Given the description of an element on the screen output the (x, y) to click on. 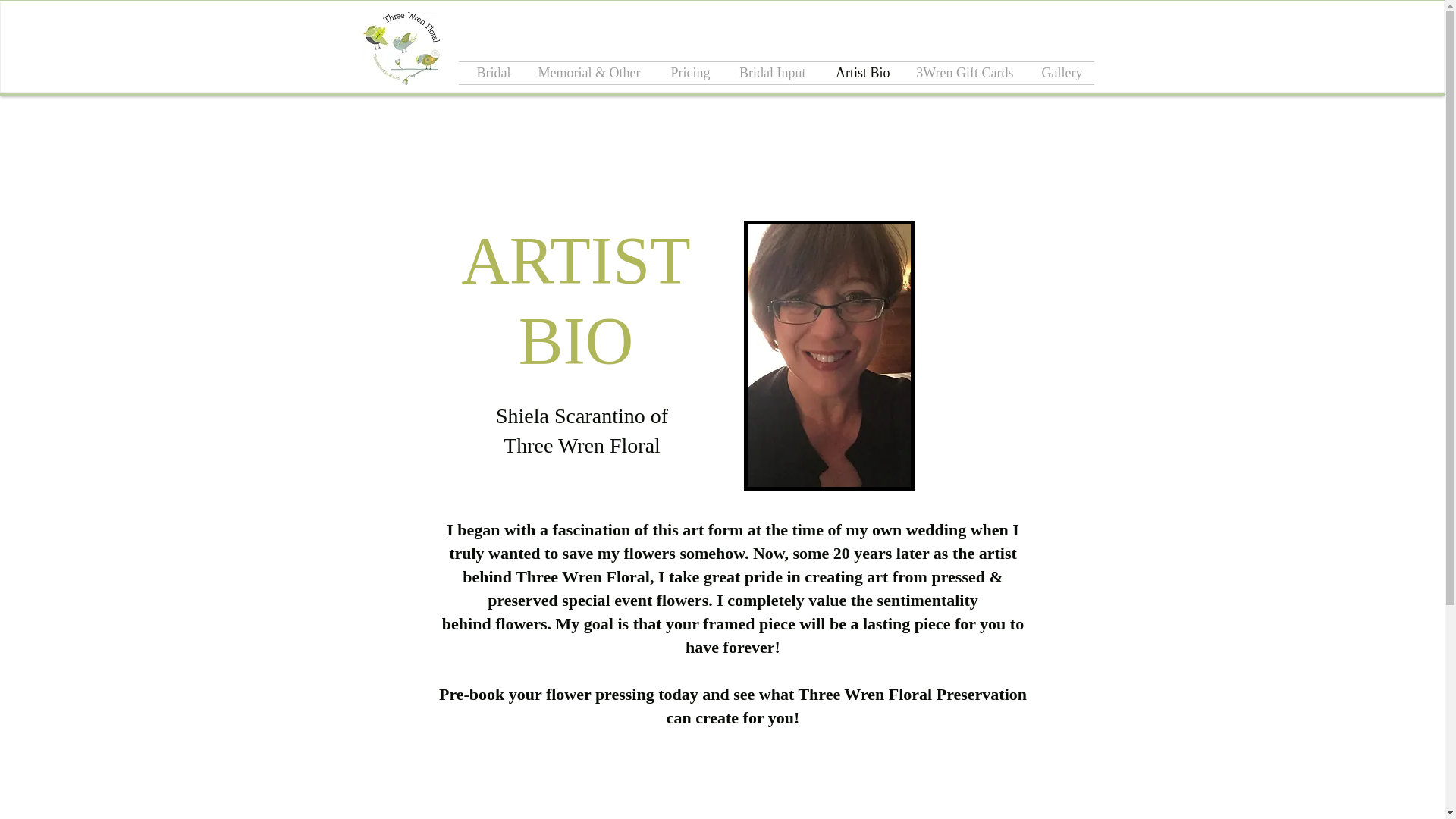
Artist Bio (858, 73)
Gallery (1059, 73)
Bridal (489, 73)
Bridal Input (769, 73)
Pricing (687, 73)
3Wren Gift Cards (963, 73)
